Given the description of an element on the screen output the (x, y) to click on. 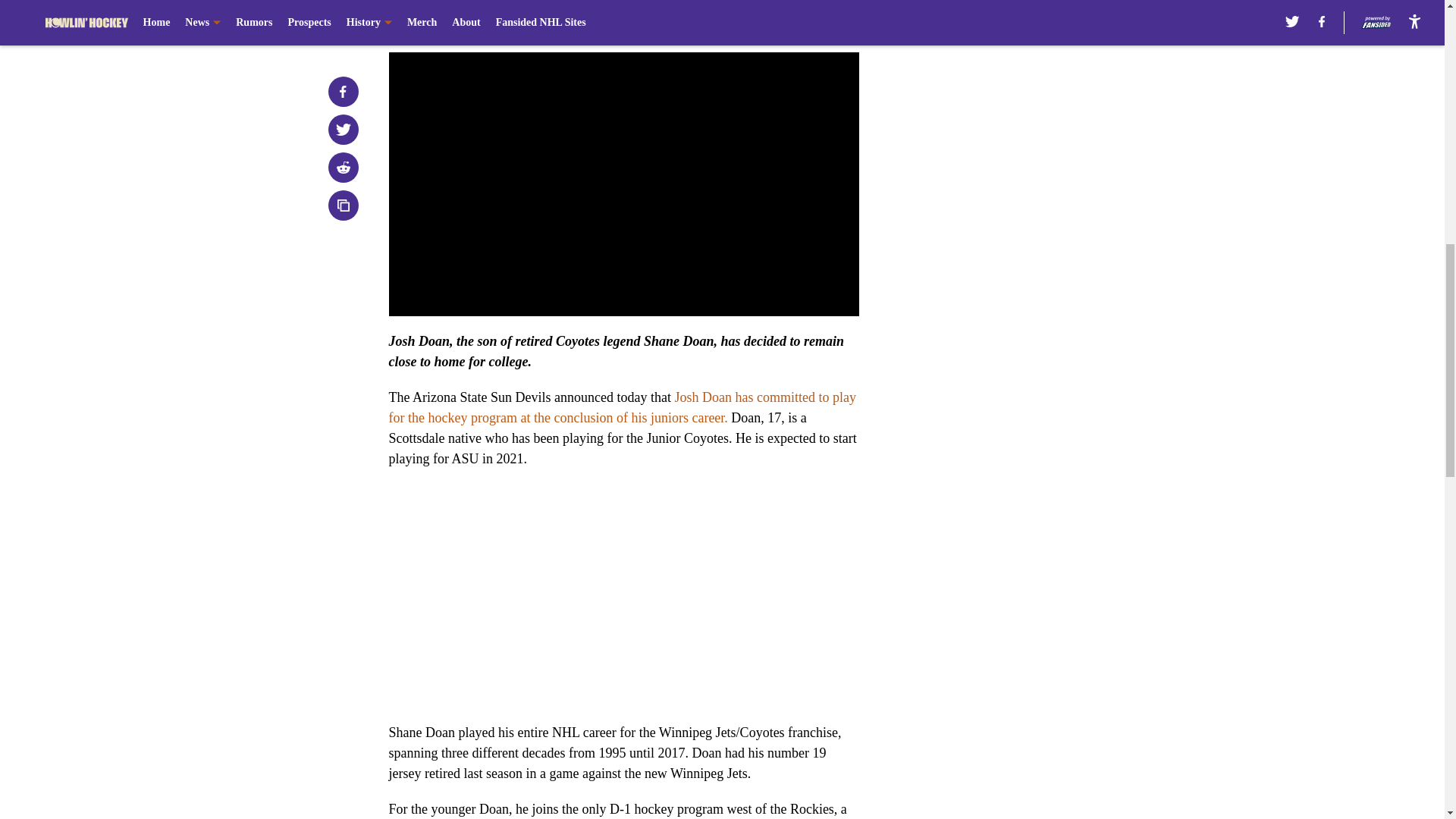
3rd party ad content (1047, 366)
3rd party ad content (1047, 145)
